Given the description of an element on the screen output the (x, y) to click on. 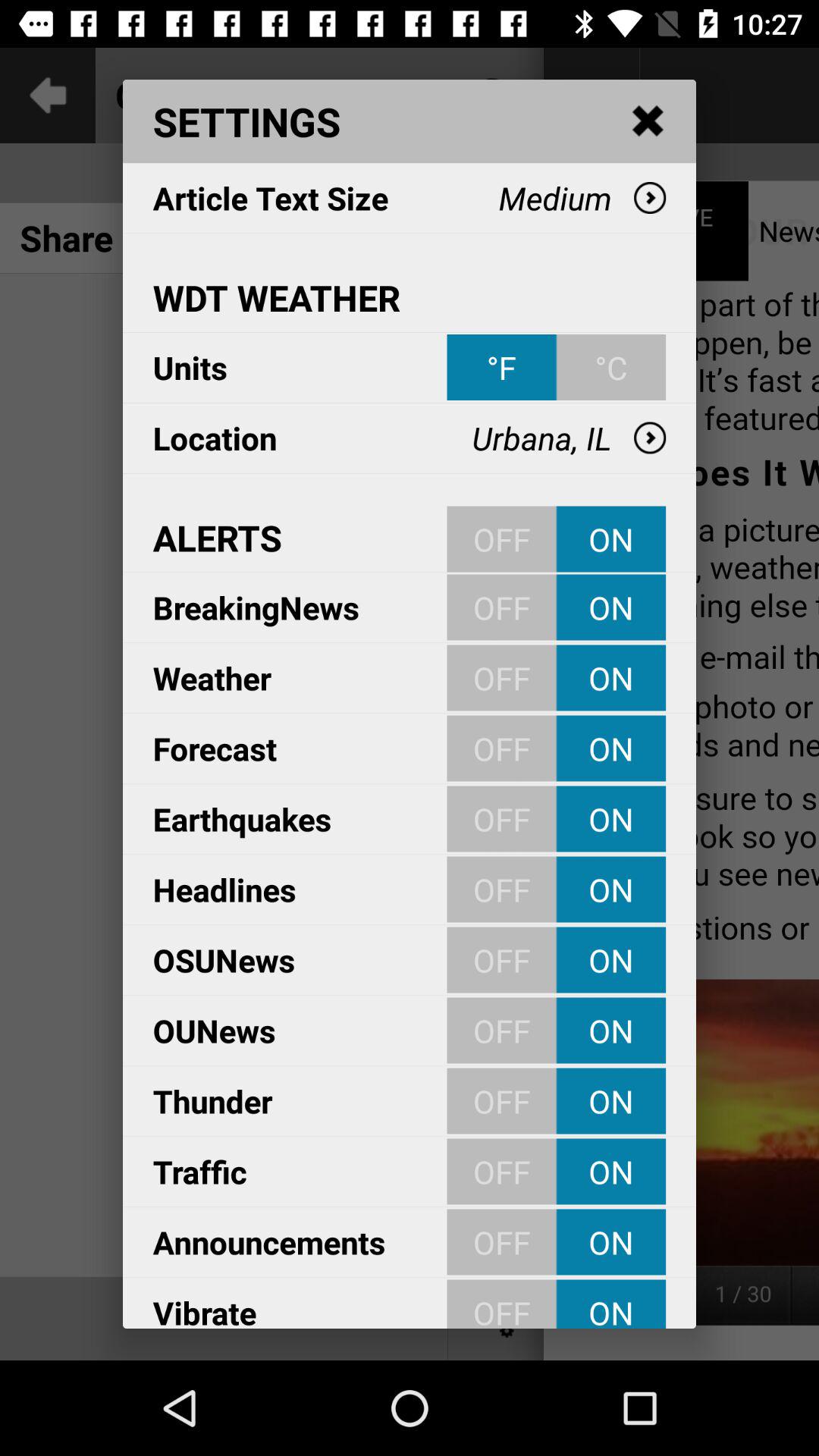
close (648, 121)
